Given the description of an element on the screen output the (x, y) to click on. 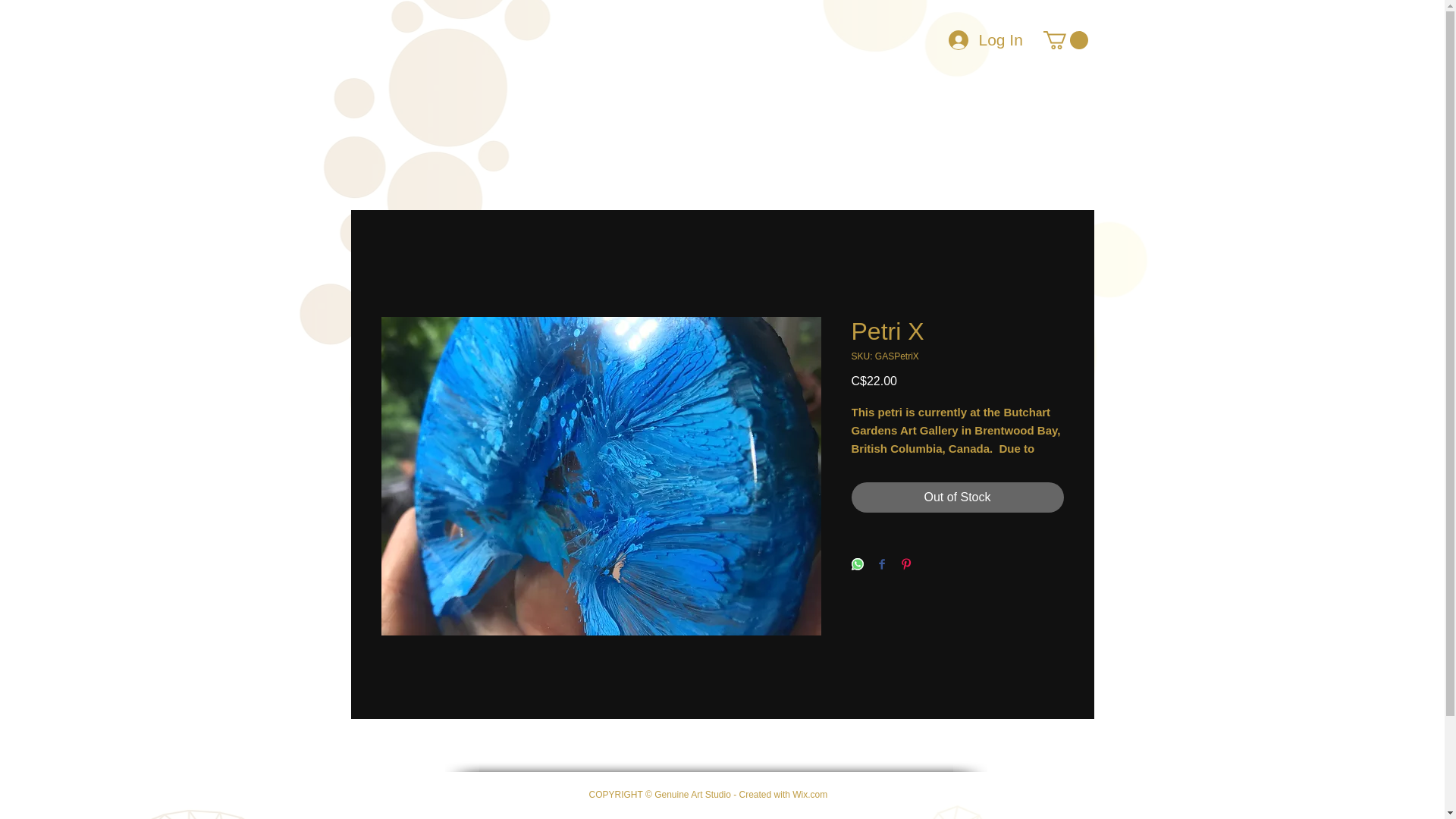
Out of Stock (956, 497)
Wix.com (809, 794)
Log In (967, 39)
